Given the description of an element on the screen output the (x, y) to click on. 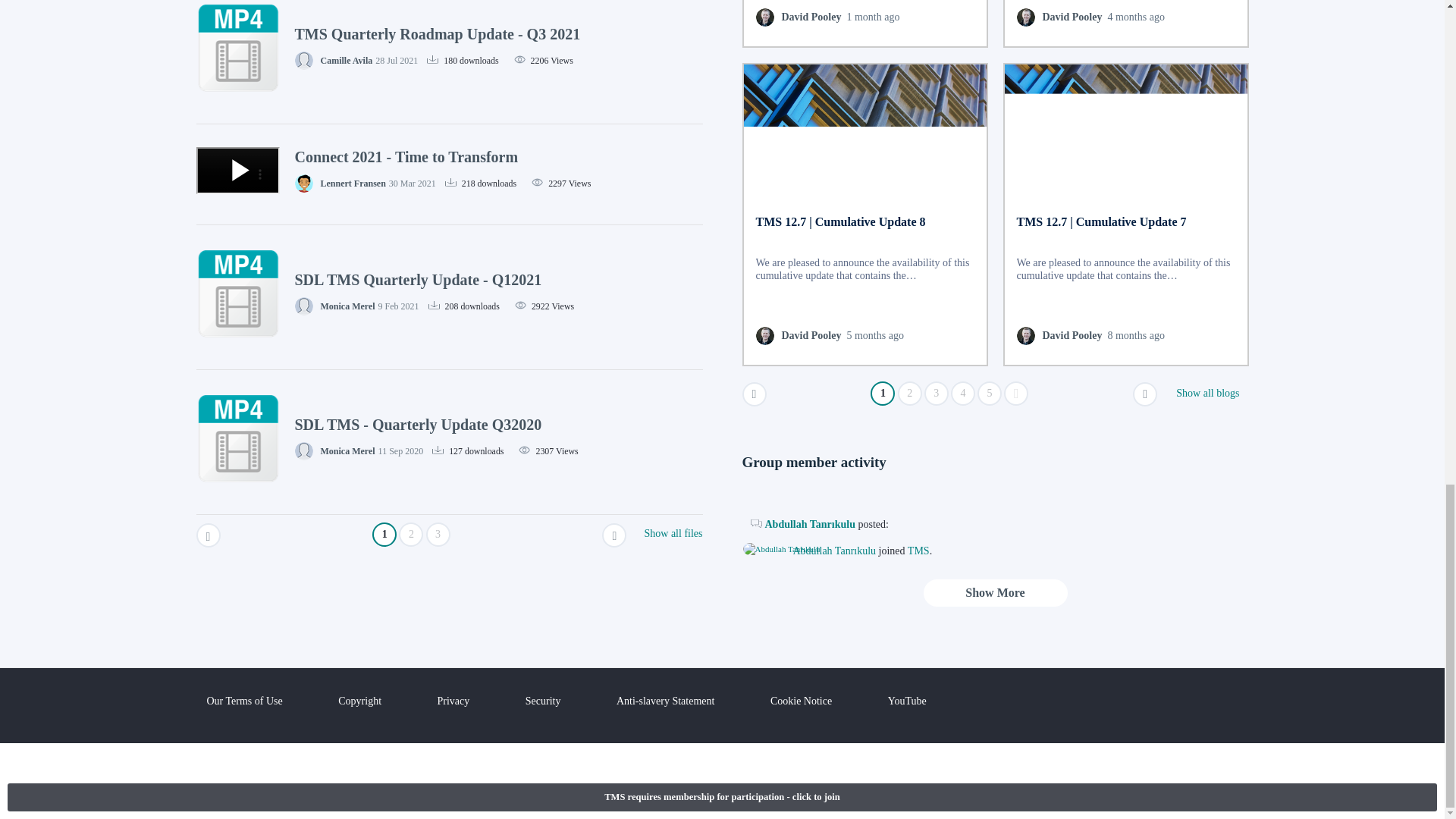
Go to page 1 (882, 393)
Go to page 4 (962, 393)
Go to page 2 (909, 393)
Go to next page (1144, 394)
Go to last page (1015, 393)
Go to page 3 (936, 393)
Go to page 5 (988, 393)
